Given the description of an element on the screen output the (x, y) to click on. 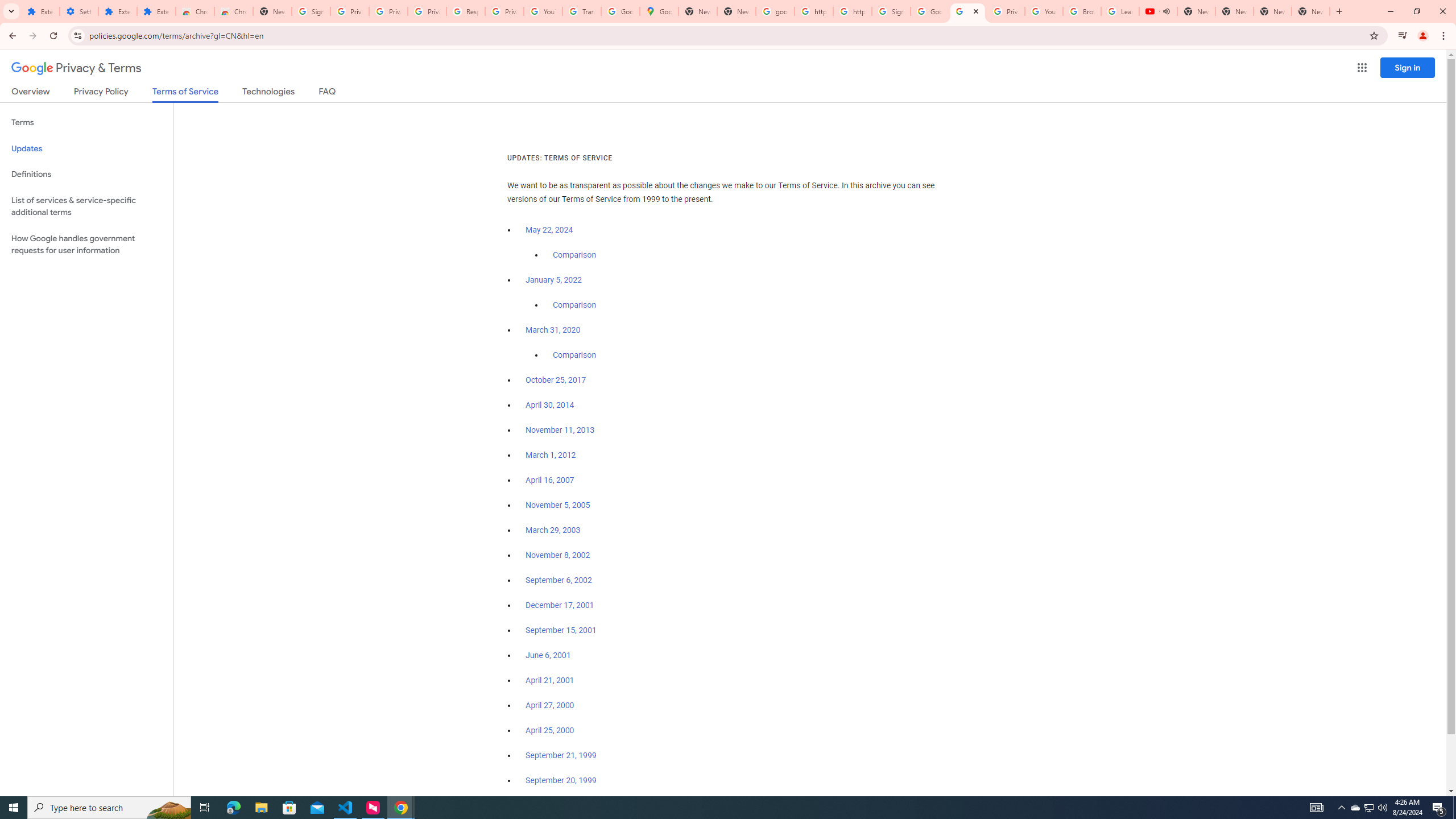
April 27, 2000 (550, 705)
September 20, 1999 (560, 780)
March 1, 2012 (550, 455)
November 5, 2005 (557, 505)
April 30, 2014 (550, 405)
November 11, 2013 (560, 430)
Mute tab (1165, 10)
Browse Chrome as a guest - Computer - Google Chrome Help (1082, 11)
